Given the description of an element on the screen output the (x, y) to click on. 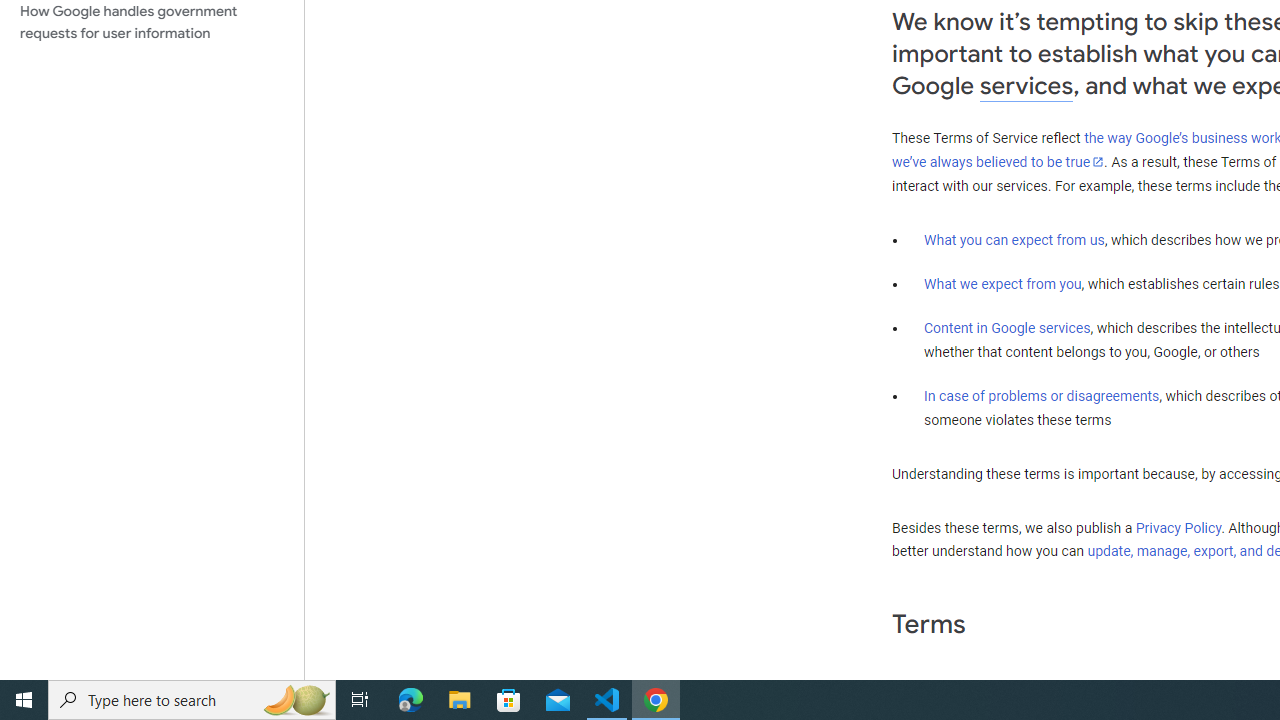
services (1026, 85)
Content in Google services (1007, 327)
In case of problems or disagreements (1041, 395)
What you can expect from us (1014, 240)
What we expect from you (1002, 284)
